Given the description of an element on the screen output the (x, y) to click on. 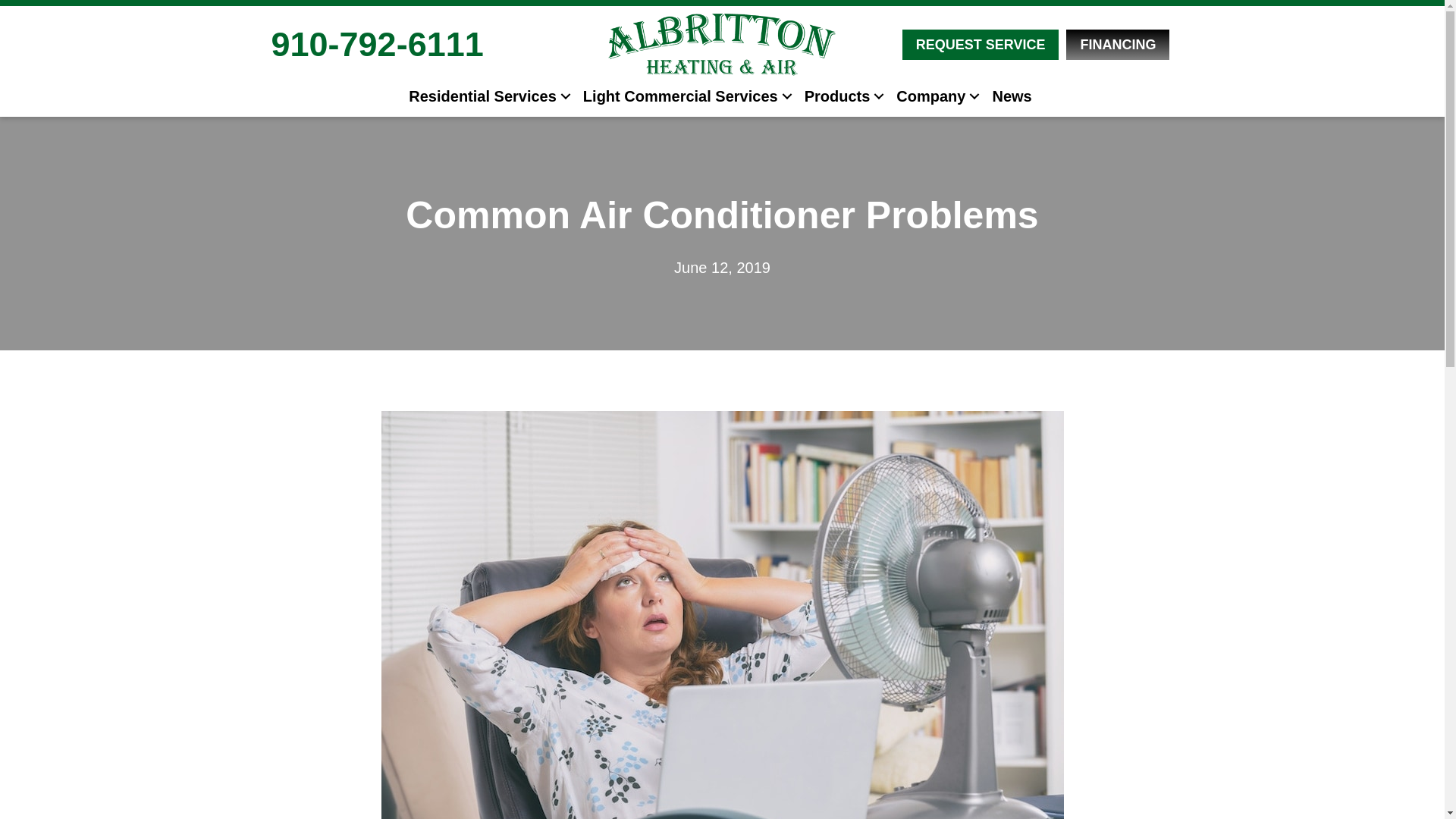
REQUEST SERVICE (980, 44)
Residential Services (488, 96)
Company (936, 96)
Light Commercial Services (685, 96)
Products (842, 96)
FINANCING (1117, 44)
910-792-6111 (376, 44)
News (1011, 96)
